Given the description of an element on the screen output the (x, y) to click on. 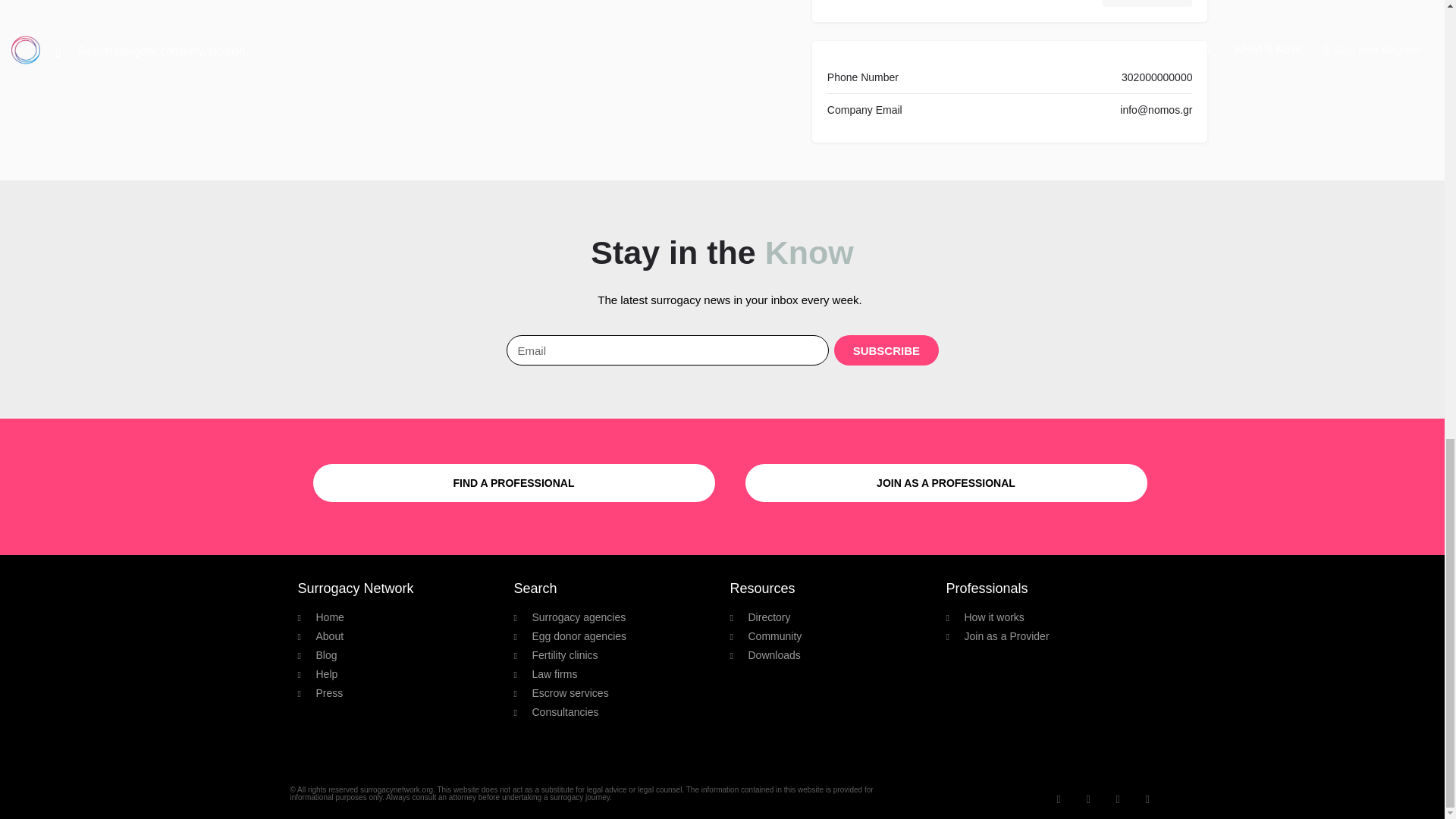
Get Directions (1147, 3)
